Given the description of an element on the screen output the (x, y) to click on. 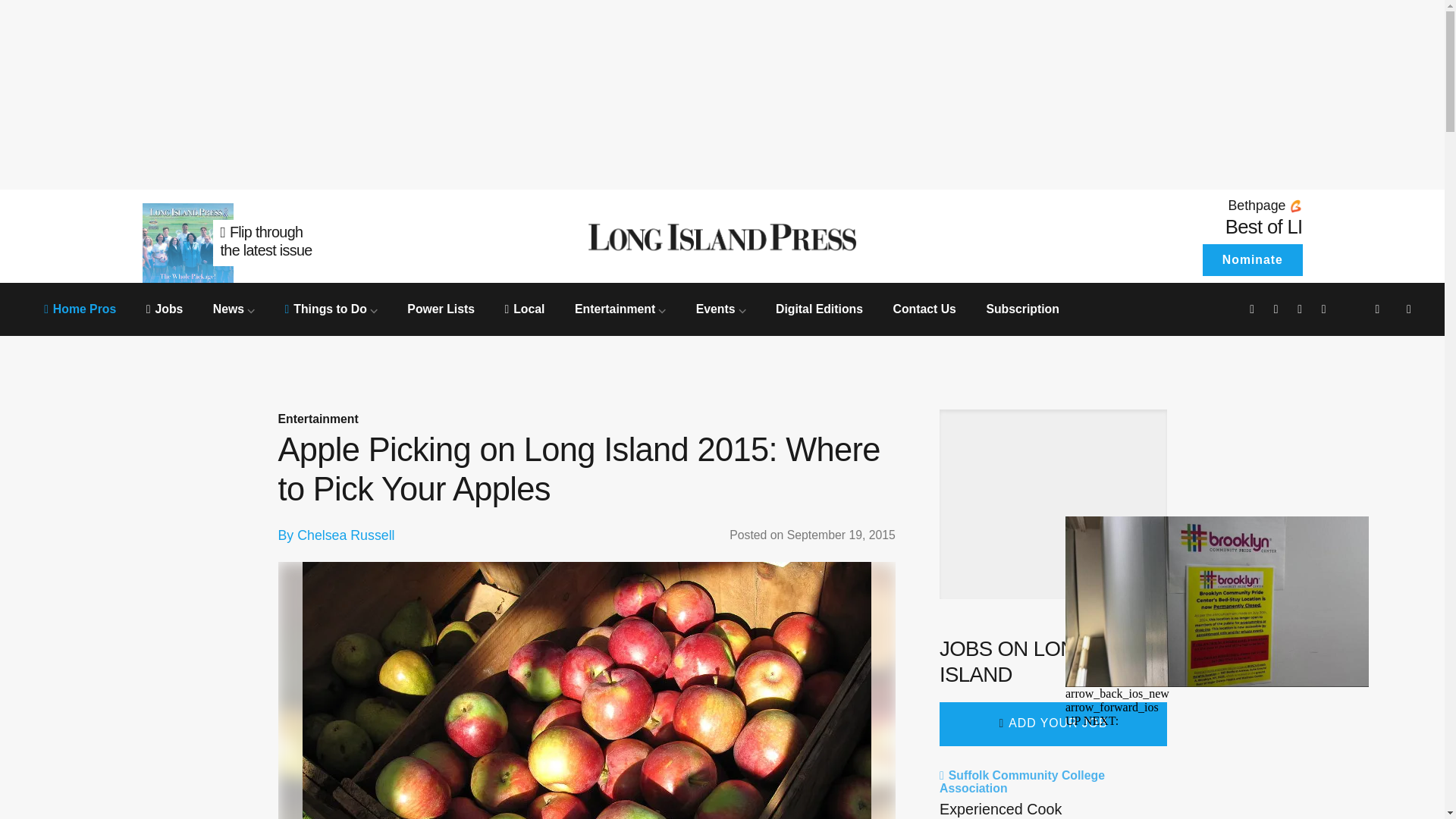
News (233, 308)
Things to Do (331, 308)
Presented by Bethpage Federal Credit Union (1166, 205)
Nominate (1251, 260)
Digital Editions (819, 308)
Jobs (165, 308)
Contact Us (923, 308)
Power Lists (440, 308)
Home Pros (79, 308)
Events (720, 308)
